Given the description of an element on the screen output the (x, y) to click on. 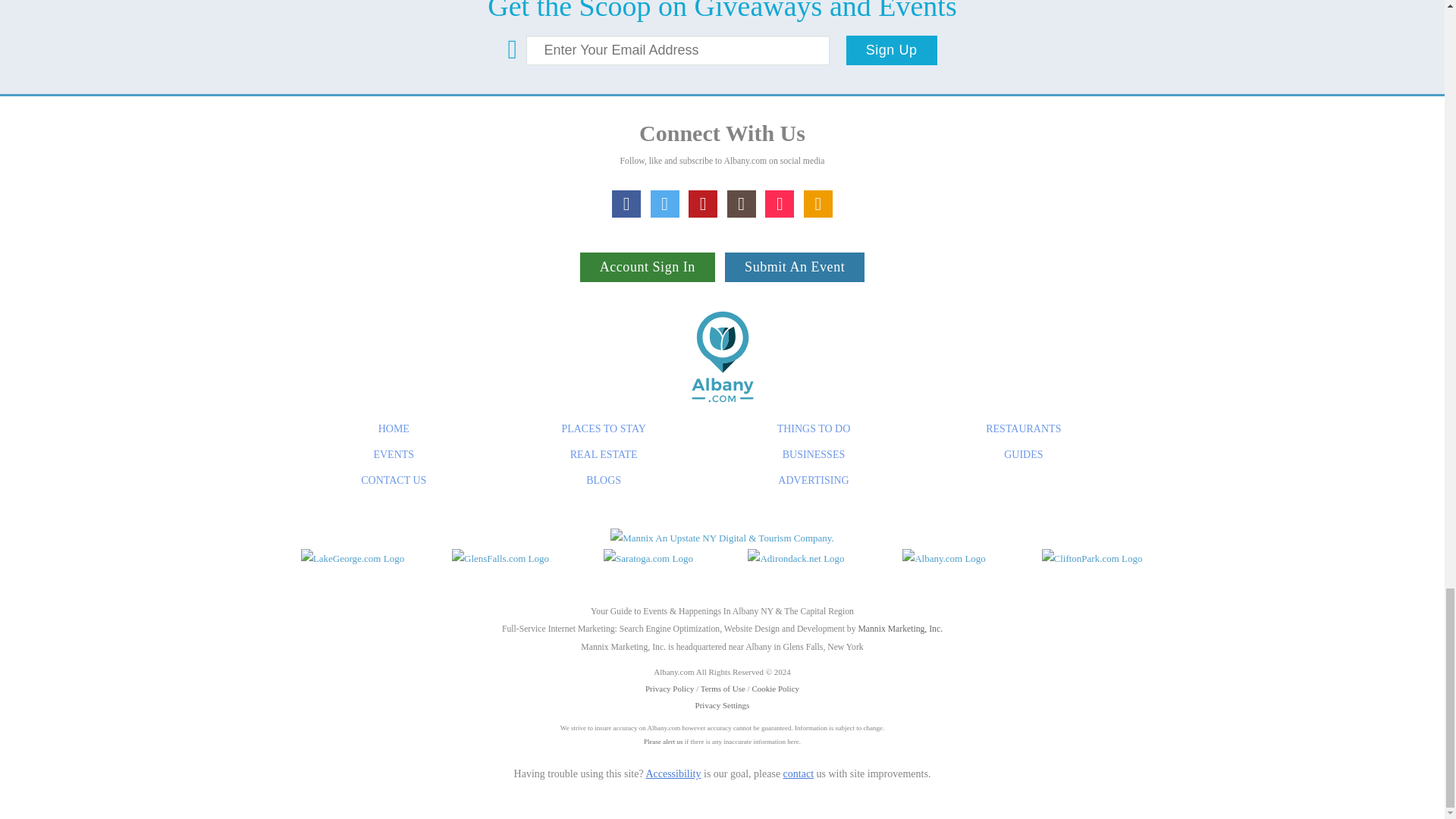
Pinterest (702, 203)
My Planner (817, 203)
TikTok (779, 203)
Instagram (740, 203)
Facebook (625, 203)
X (664, 203)
